Given the description of an element on the screen output the (x, y) to click on. 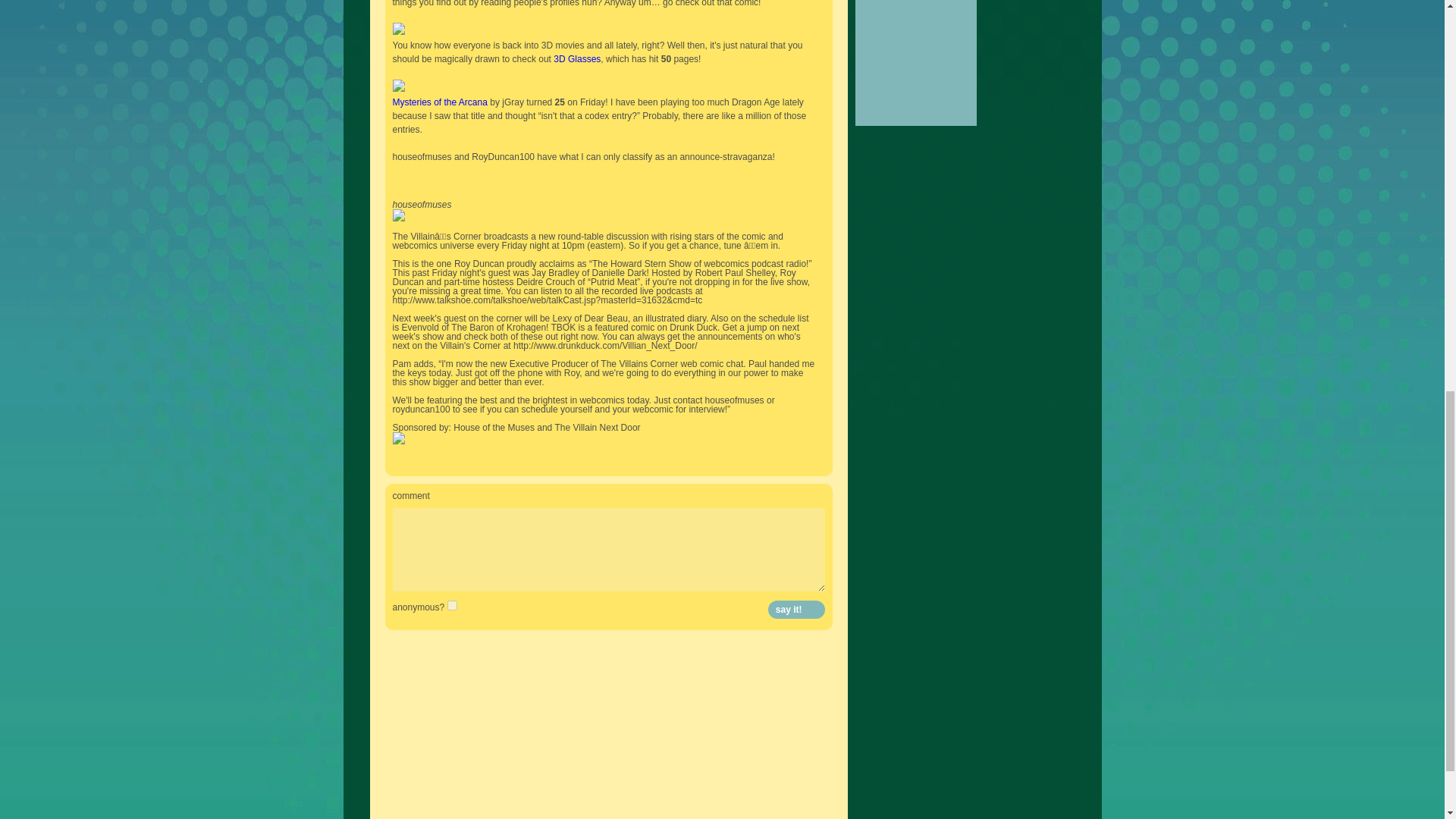
Mysteries of the Arcana (440, 102)
3D Glasses (576, 59)
1 (451, 605)
say it! (796, 609)
say it! (796, 609)
